Given the description of an element on the screen output the (x, y) to click on. 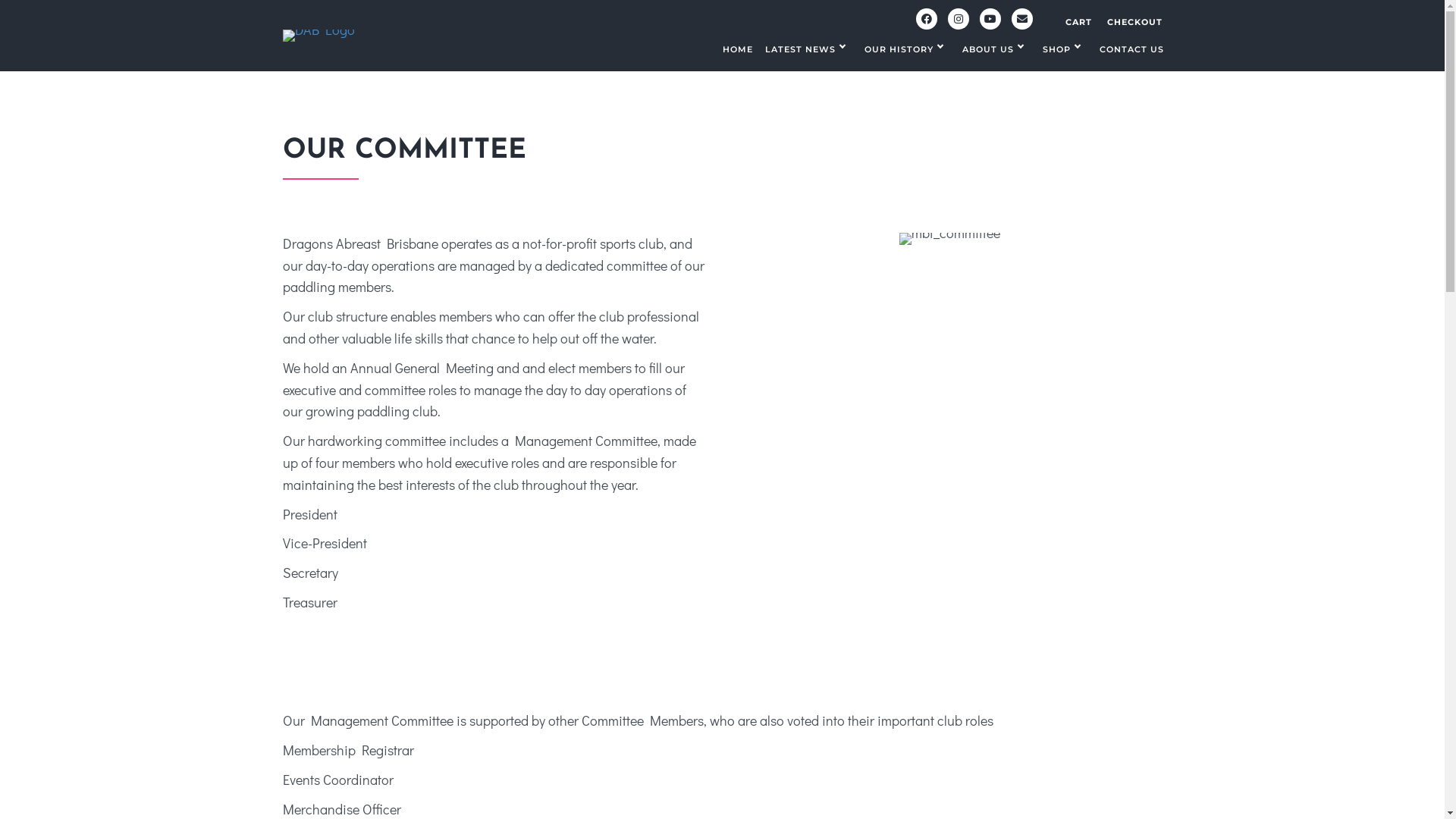
OUR HISTORY Element type: text (907, 49)
LATEST NEWS Element type: text (807, 49)
SHOP Element type: text (1063, 49)
HOME Element type: text (736, 49)
Email Element type: hover (1021, 18)
CONTACT US Element type: text (1131, 49)
Instagram Element type: hover (958, 18)
Facebook Element type: hover (926, 18)
CART Element type: text (1078, 21)
ABOUT US Element type: text (995, 49)
DAB Logo Element type: hover (318, 35)
CHECKOUT Element type: text (1134, 21)
YouTube Element type: hover (990, 18)
mbt_committee Element type: hover (949, 238)
